Given the description of an element on the screen output the (x, y) to click on. 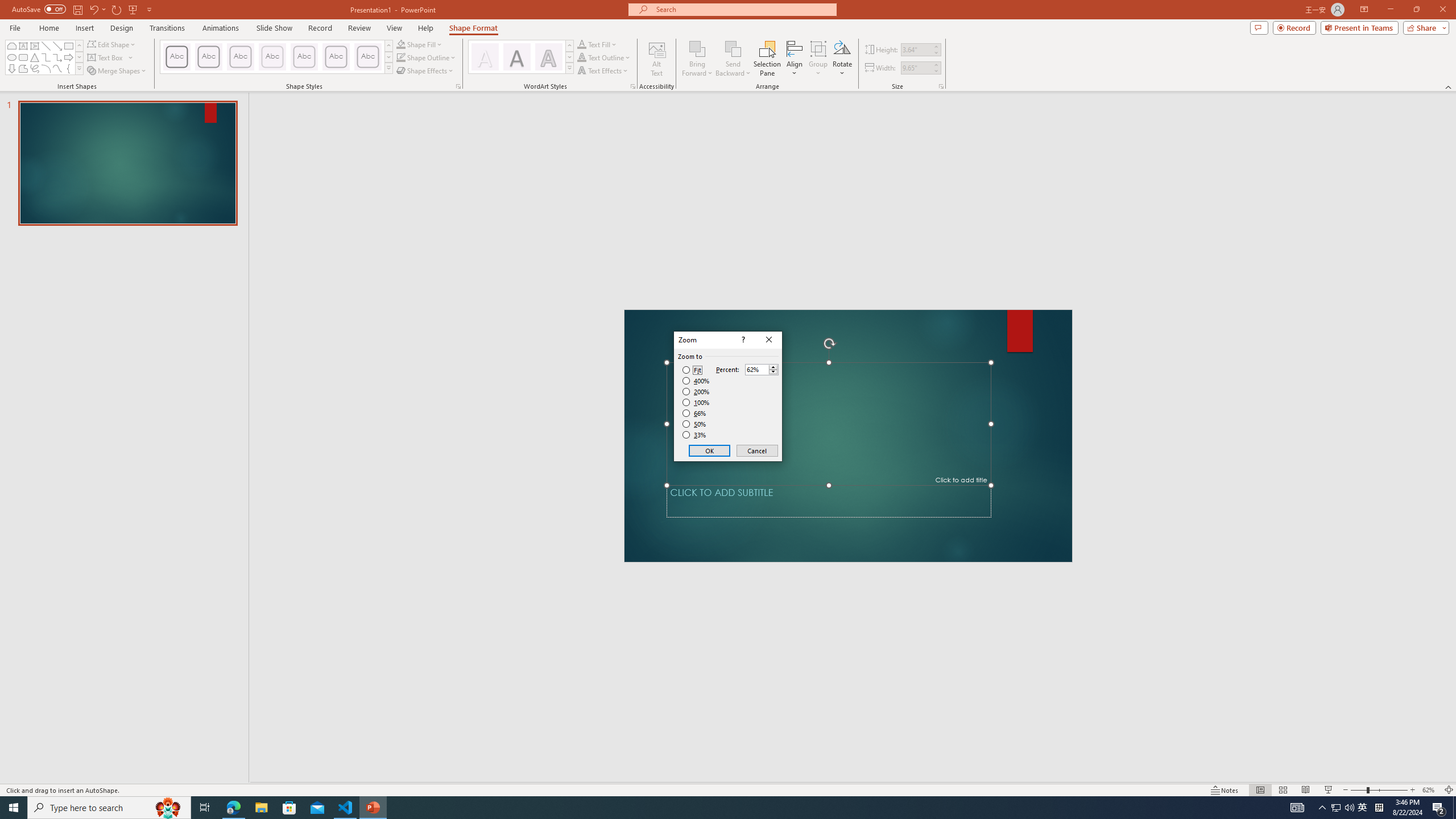
Text Outline (604, 56)
Percent (761, 369)
Align (794, 58)
